Given the description of an element on the screen output the (x, y) to click on. 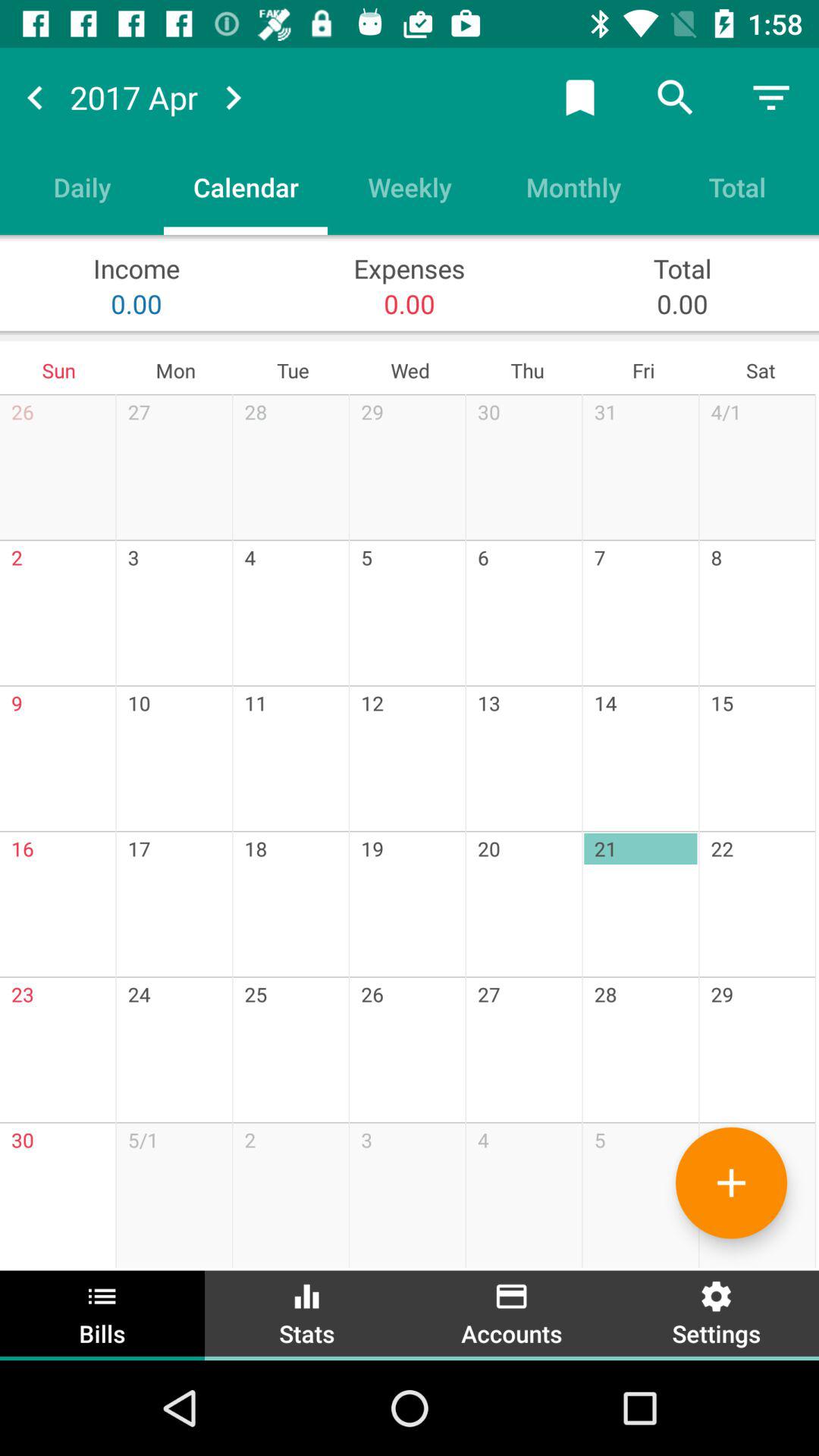
turn off calendar icon (245, 186)
